Given the description of an element on the screen output the (x, y) to click on. 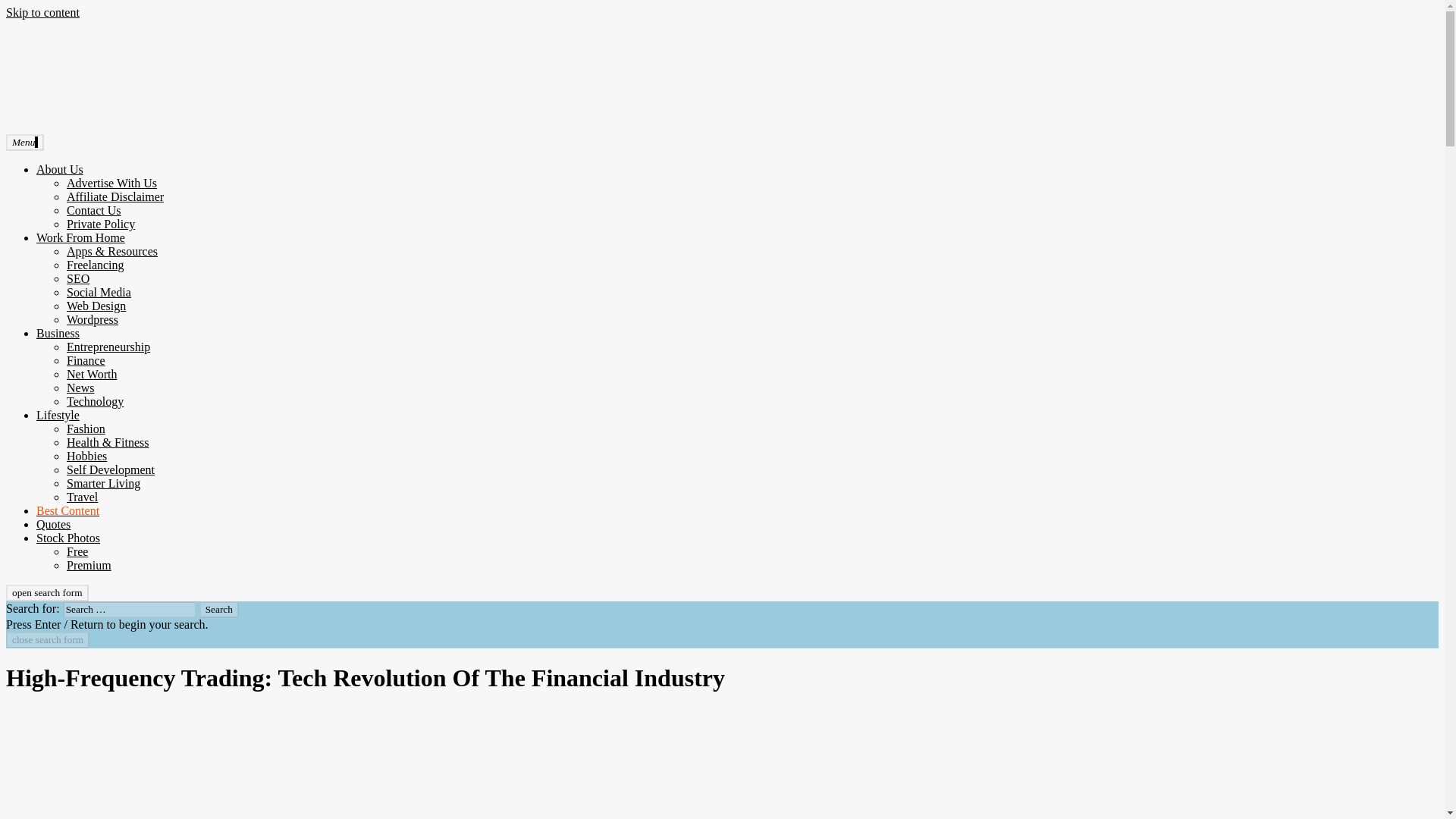
Advertise With Us (111, 182)
Finance (85, 359)
Best Content (67, 510)
Hobbies (86, 455)
Wordpress (91, 318)
Freelancing (94, 264)
Self Development (110, 469)
Private Policy (100, 223)
open search form (46, 592)
Fancycrave (33, 152)
